Given the description of an element on the screen output the (x, y) to click on. 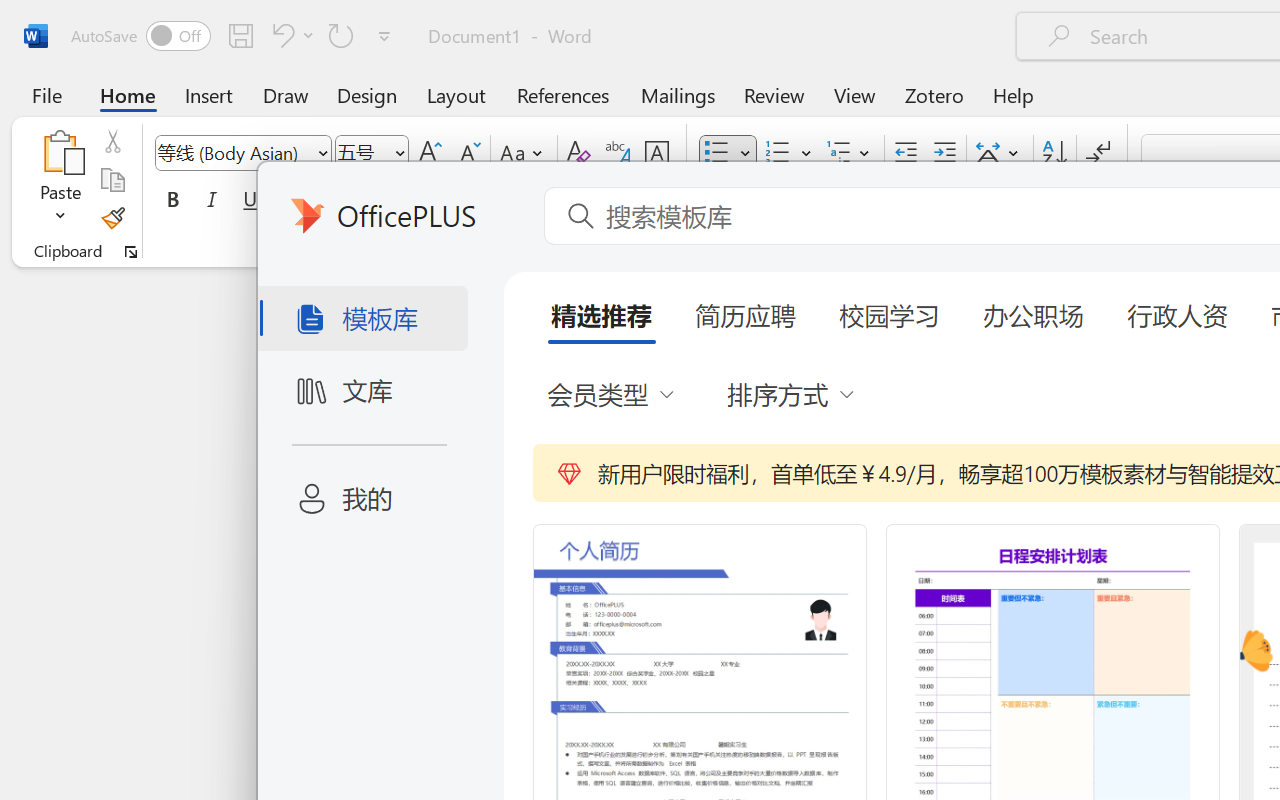
Undo Bullet Default (280, 35)
